Given the description of an element on the screen output the (x, y) to click on. 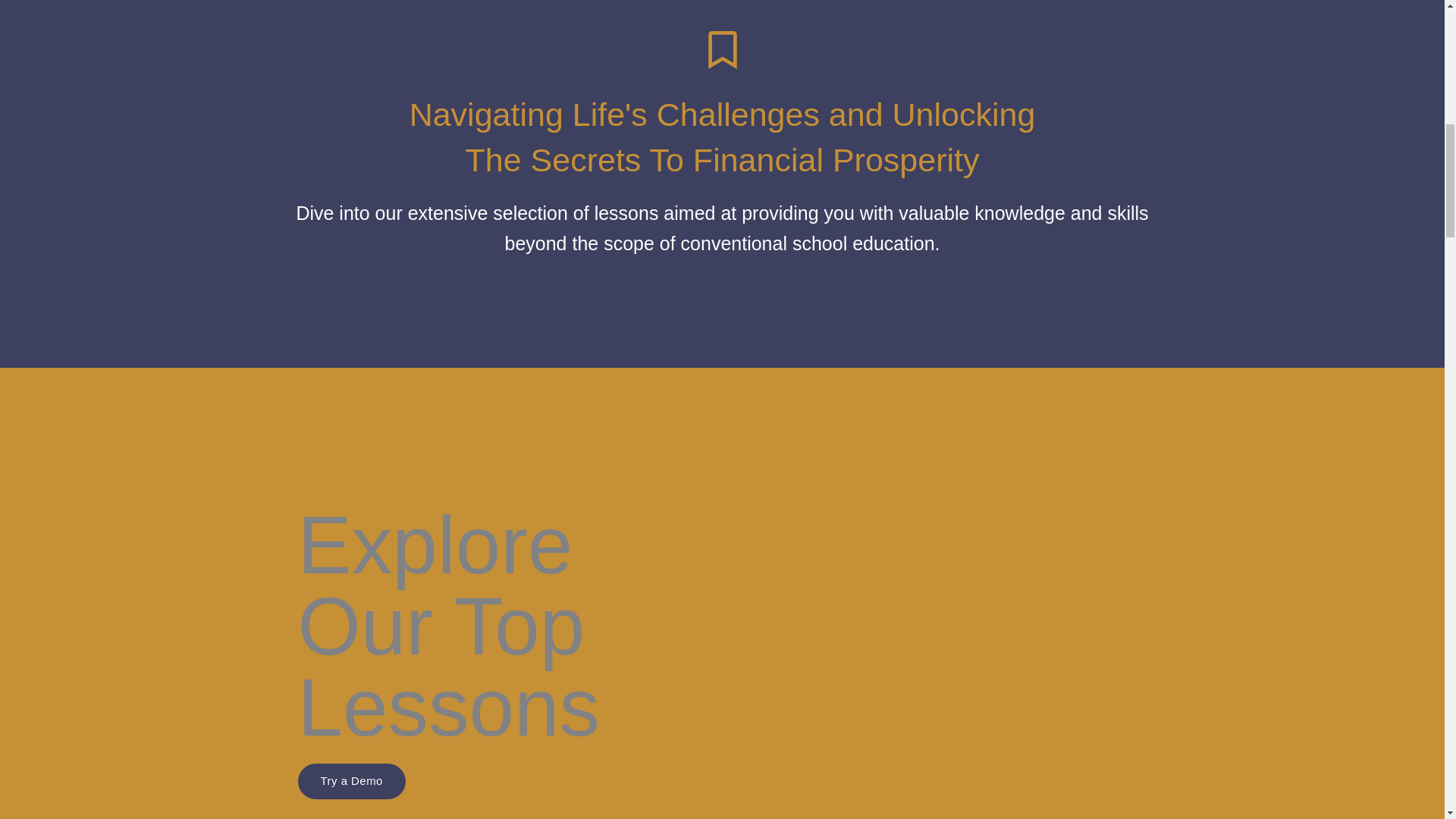
Try a Demo (350, 781)
